Given the description of an element on the screen output the (x, y) to click on. 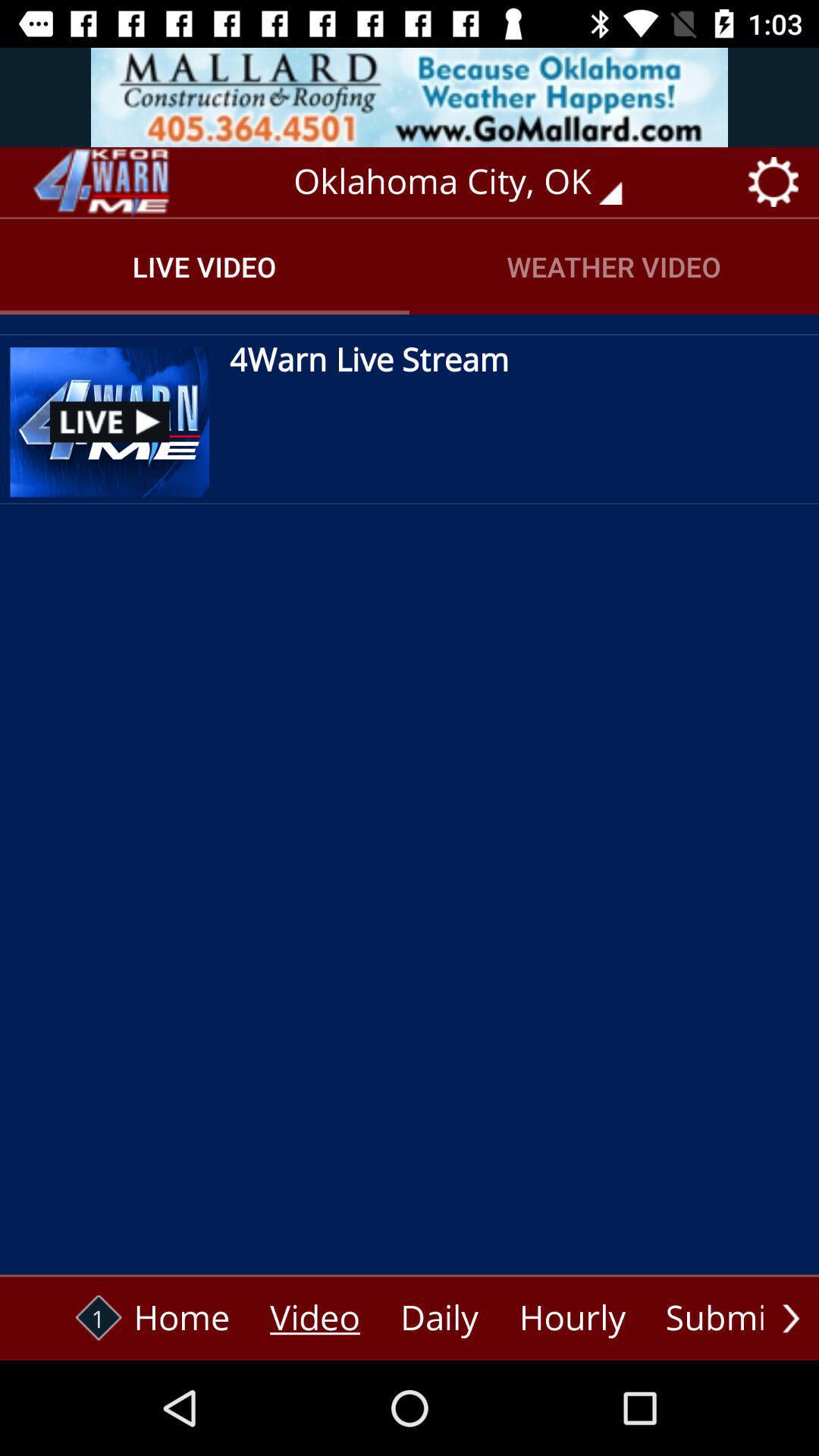
scroll to oklahoma city, ok item (468, 182)
